Given the description of an element on the screen output the (x, y) to click on. 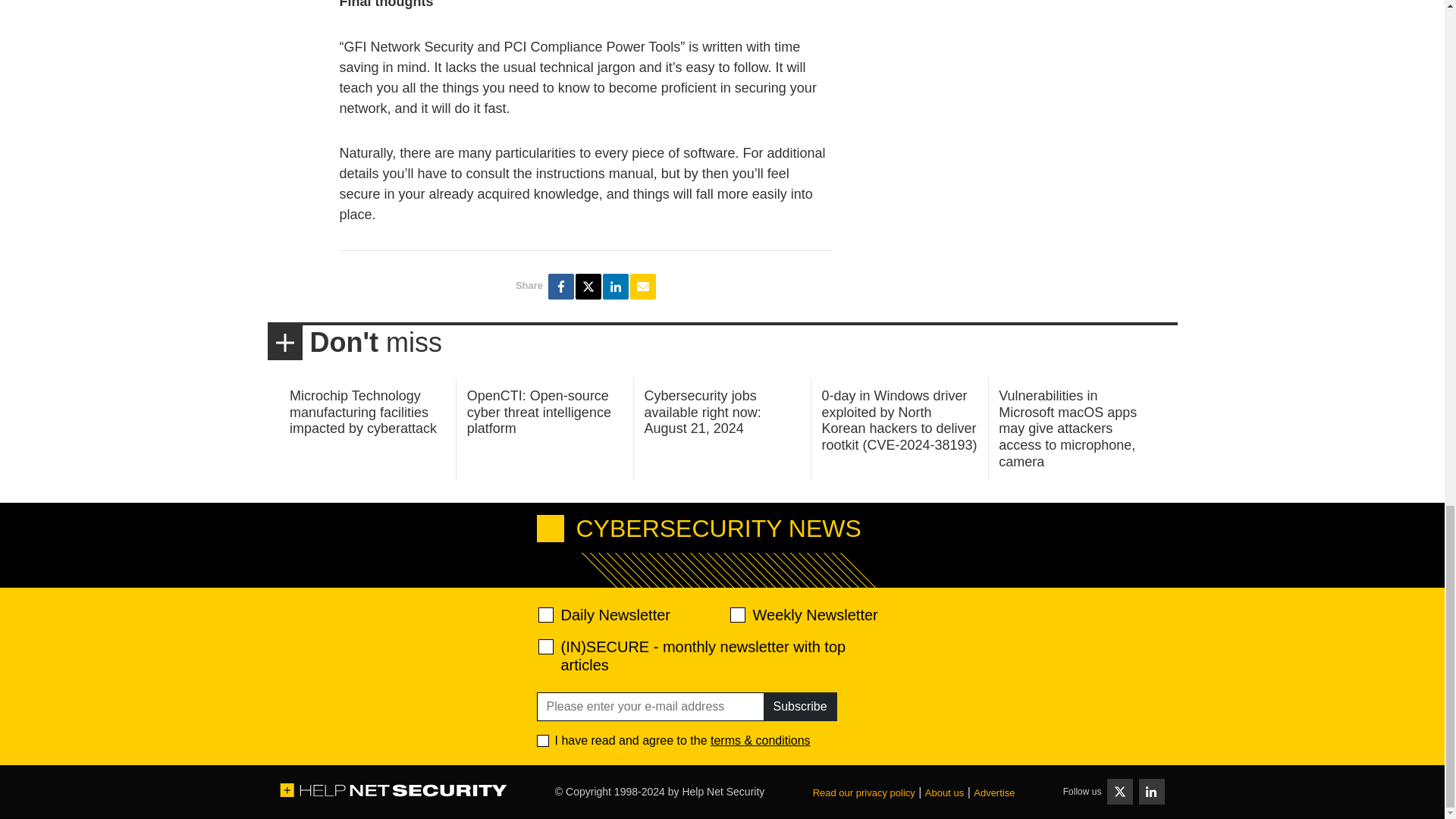
OpenCTI: Open-source cyber threat intelligence platform (539, 411)
d2d471aafa (736, 614)
28abe5d9ef (545, 646)
Cybersecurity jobs available right now: August 21, 2024 (703, 411)
1 (542, 740)
520ac2f639 (545, 614)
